Given the description of an element on the screen output the (x, y) to click on. 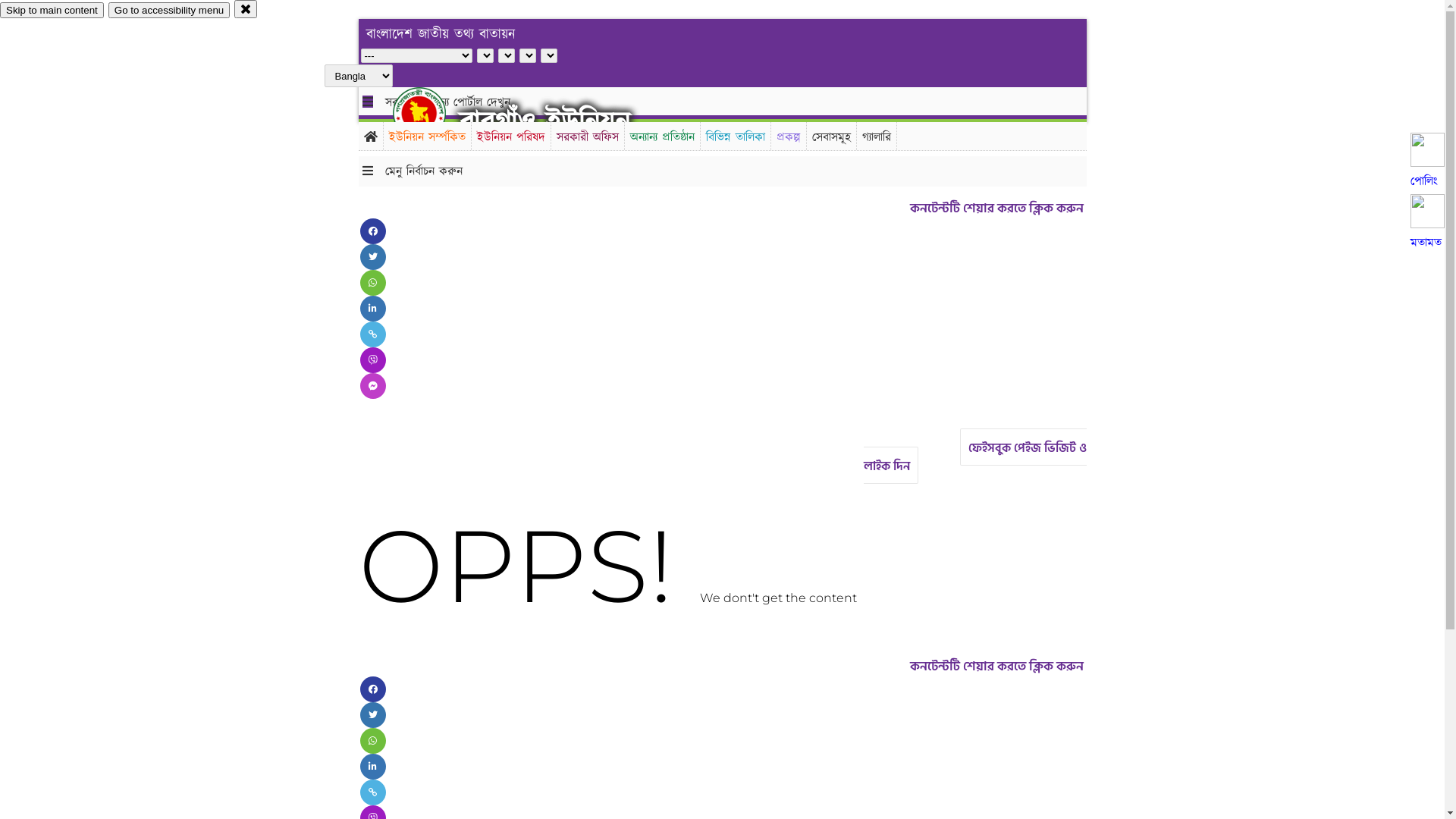

                
             Element type: hover (431, 112)
Skip to main content Element type: text (51, 10)
close Element type: hover (245, 9)
Go to accessibility menu Element type: text (168, 10)
